Given the description of an element on the screen output the (x, y) to click on. 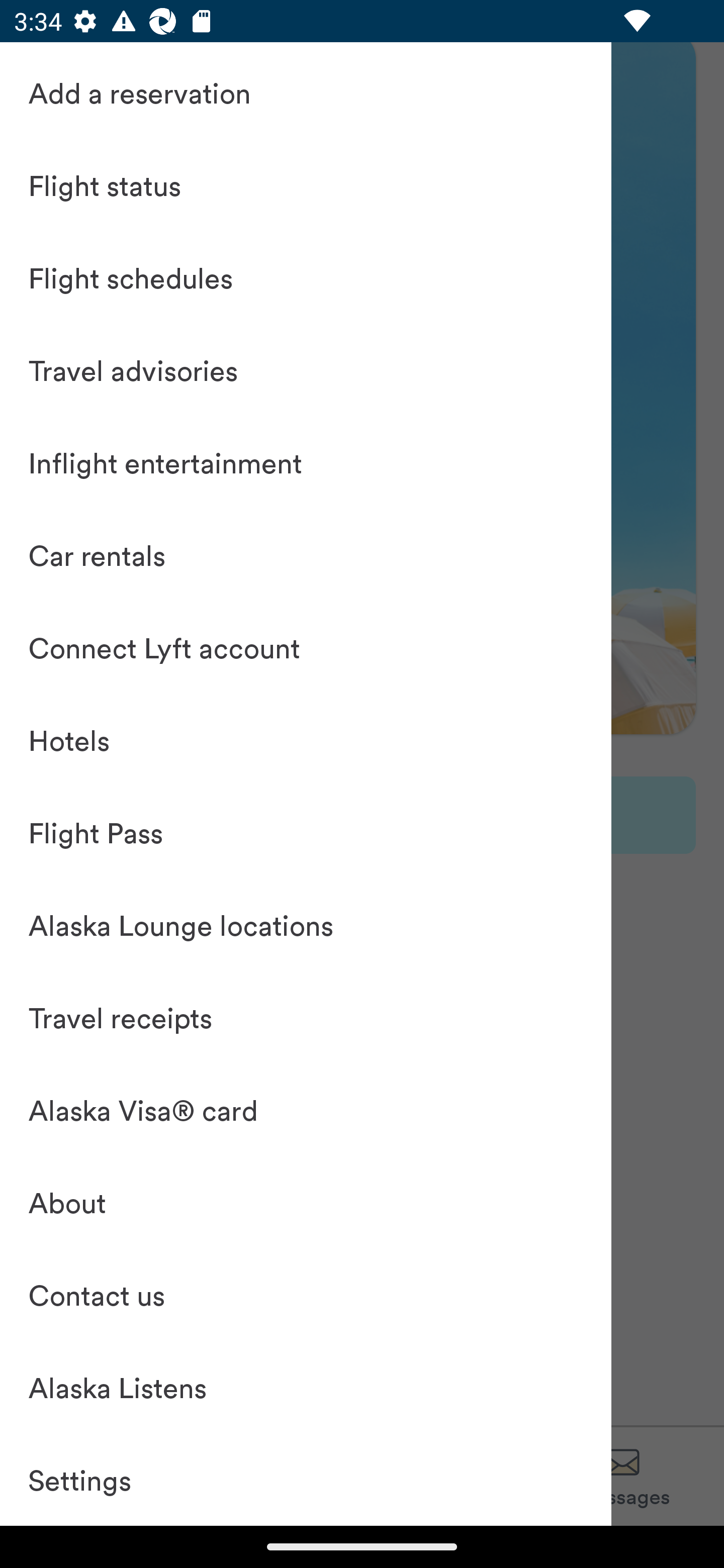
Add a reservation (305, 91)
Flight status (305, 183)
Flight schedules (305, 276)
Travel advisories (305, 369)
Inflight entertainment (305, 461)
Car rentals (305, 554)
Connect Lyft account (305, 646)
Hotels (305, 739)
Flight Pass (305, 831)
Alaska Lounge locations (305, 924)
Travel receipts (305, 1016)
Alaska Visa® card (305, 1109)
About (305, 1201)
Contact us (305, 1294)
Alaska Listens (305, 1386)
Settings (305, 1479)
